Given the description of an element on the screen output the (x, y) to click on. 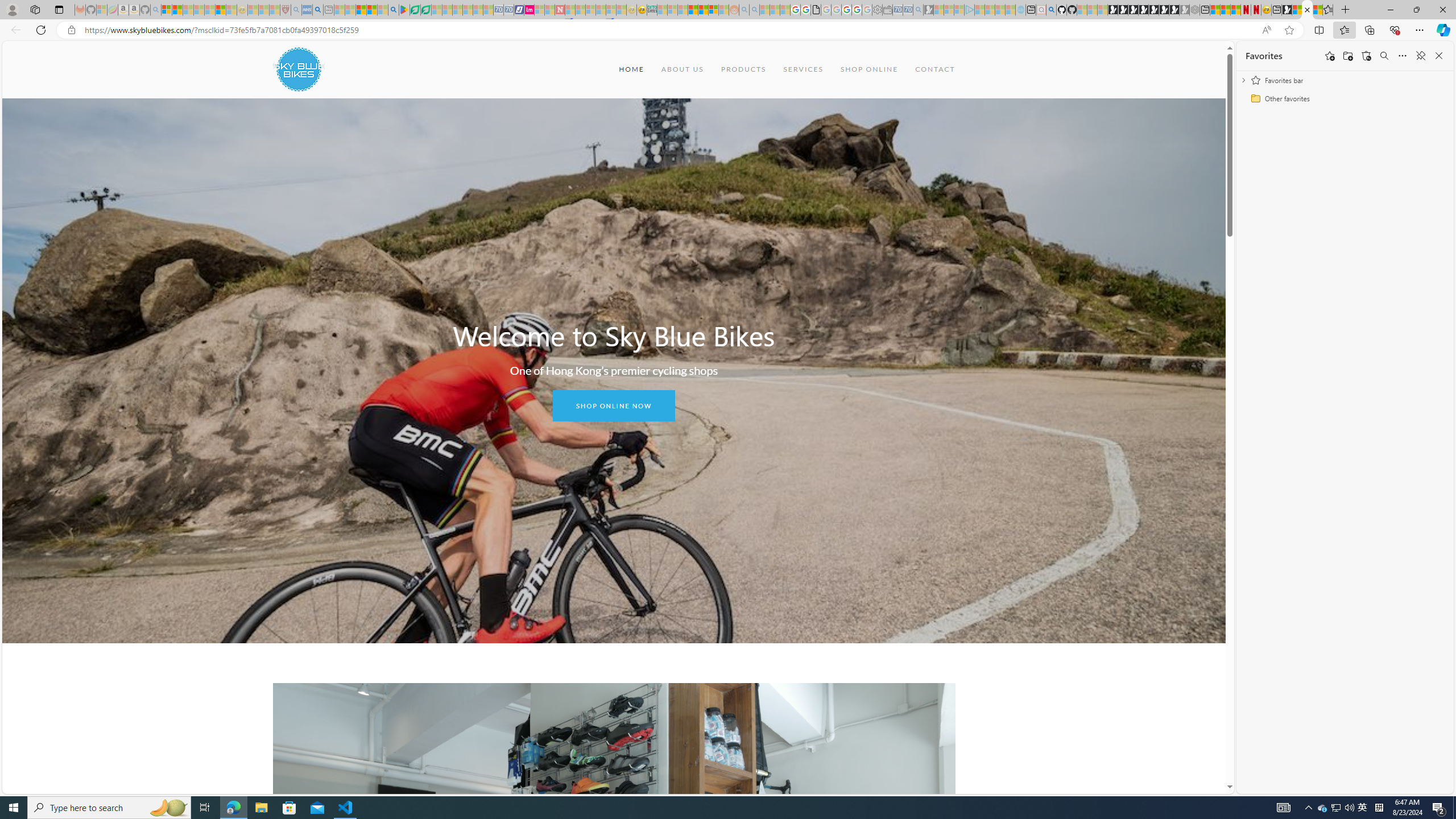
Microsoft-Report a Concern to Bing - Sleeping (101, 9)
Microsoft Start Gaming - Sleeping (928, 9)
Local - MSN - Sleeping (274, 9)
Close favorites (1439, 55)
